Given the description of an element on the screen output the (x, y) to click on. 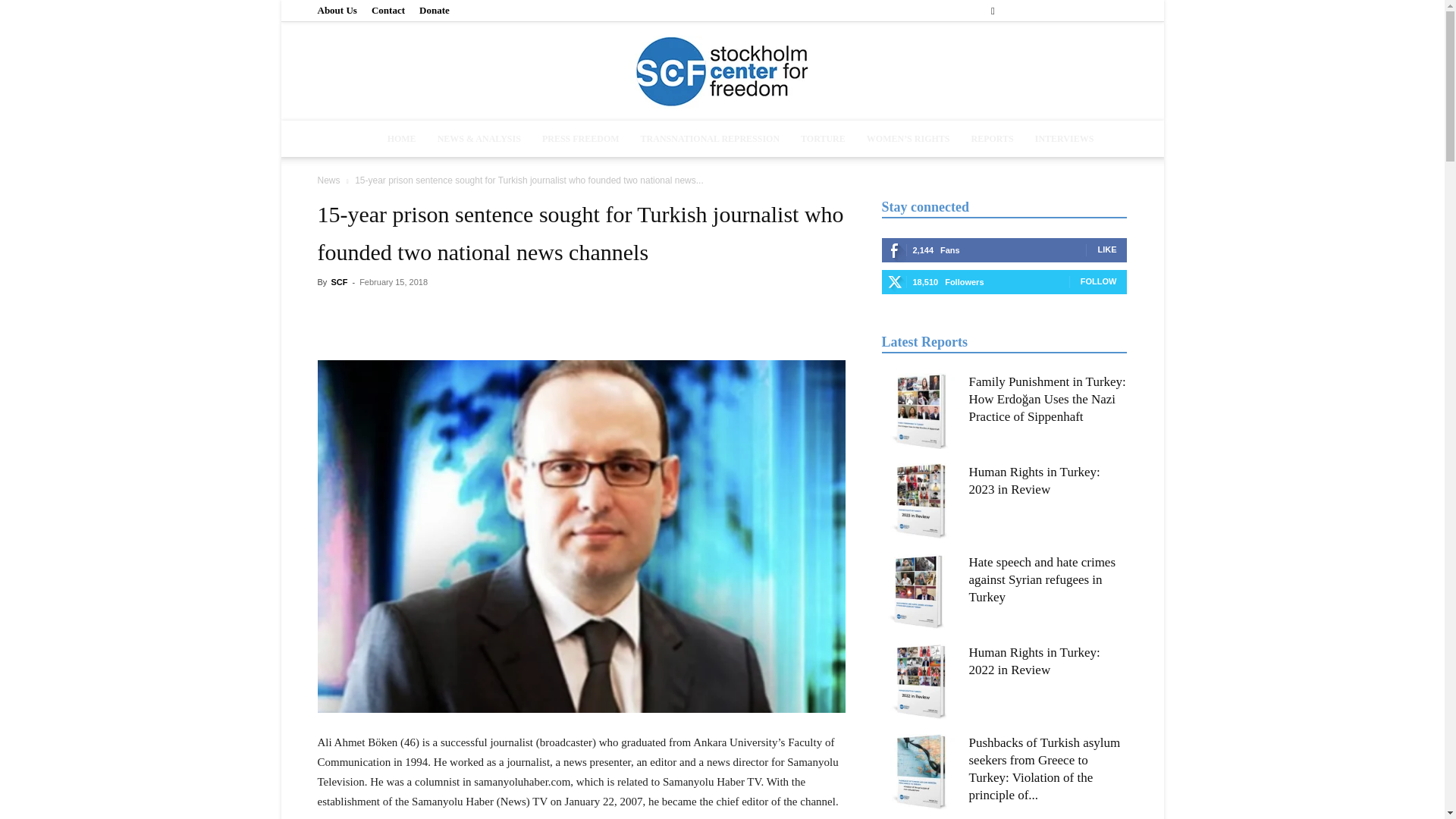
Linkedin (1065, 10)
Donate (434, 9)
About Us (336, 9)
TRANSNATIONAL REPRESSION (710, 138)
PRESS FREEDOM (580, 138)
REPORTS (991, 138)
Facebook (1015, 10)
Search (1085, 64)
HOME (401, 138)
Twitter (1090, 10)
